Given the description of an element on the screen output the (x, y) to click on. 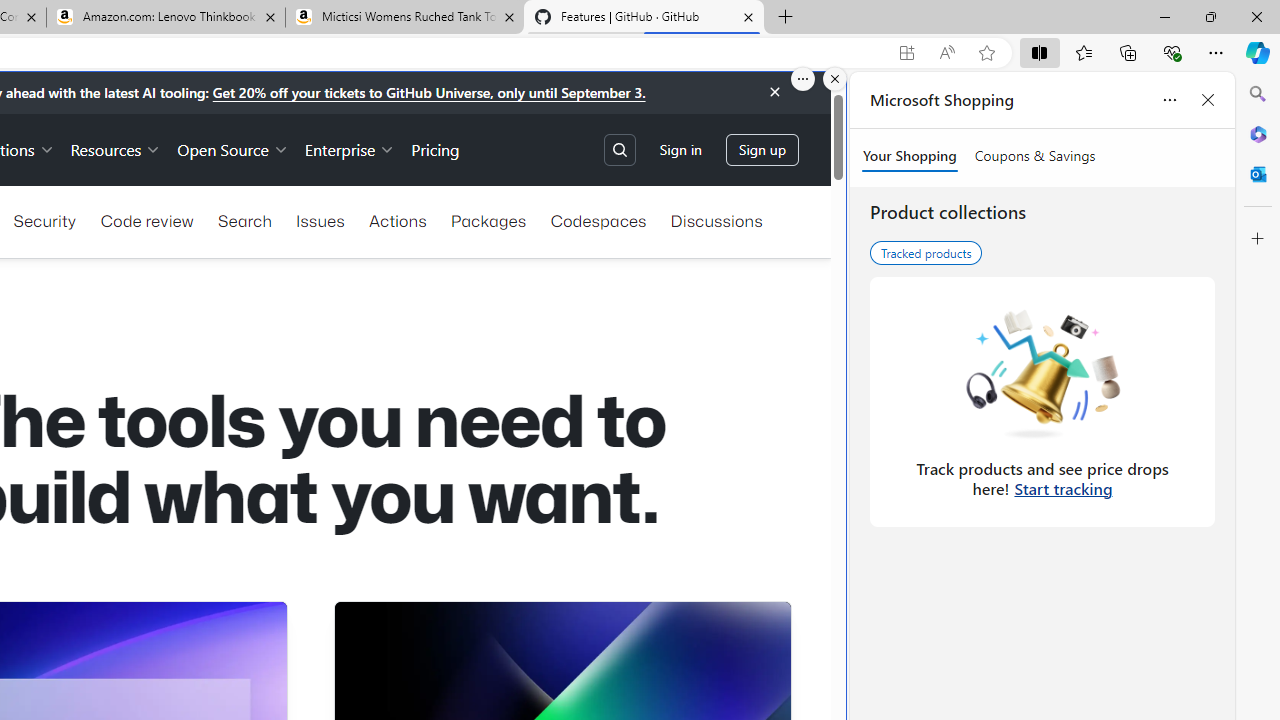
Sign in (680, 149)
Enterprise (349, 148)
Sign up (761, 149)
Enterprise (349, 148)
More options. (803, 79)
Pricing (435, 148)
Discussions (715, 220)
Code review (146, 220)
Resources (115, 148)
Security (44, 220)
